Given the description of an element on the screen output the (x, y) to click on. 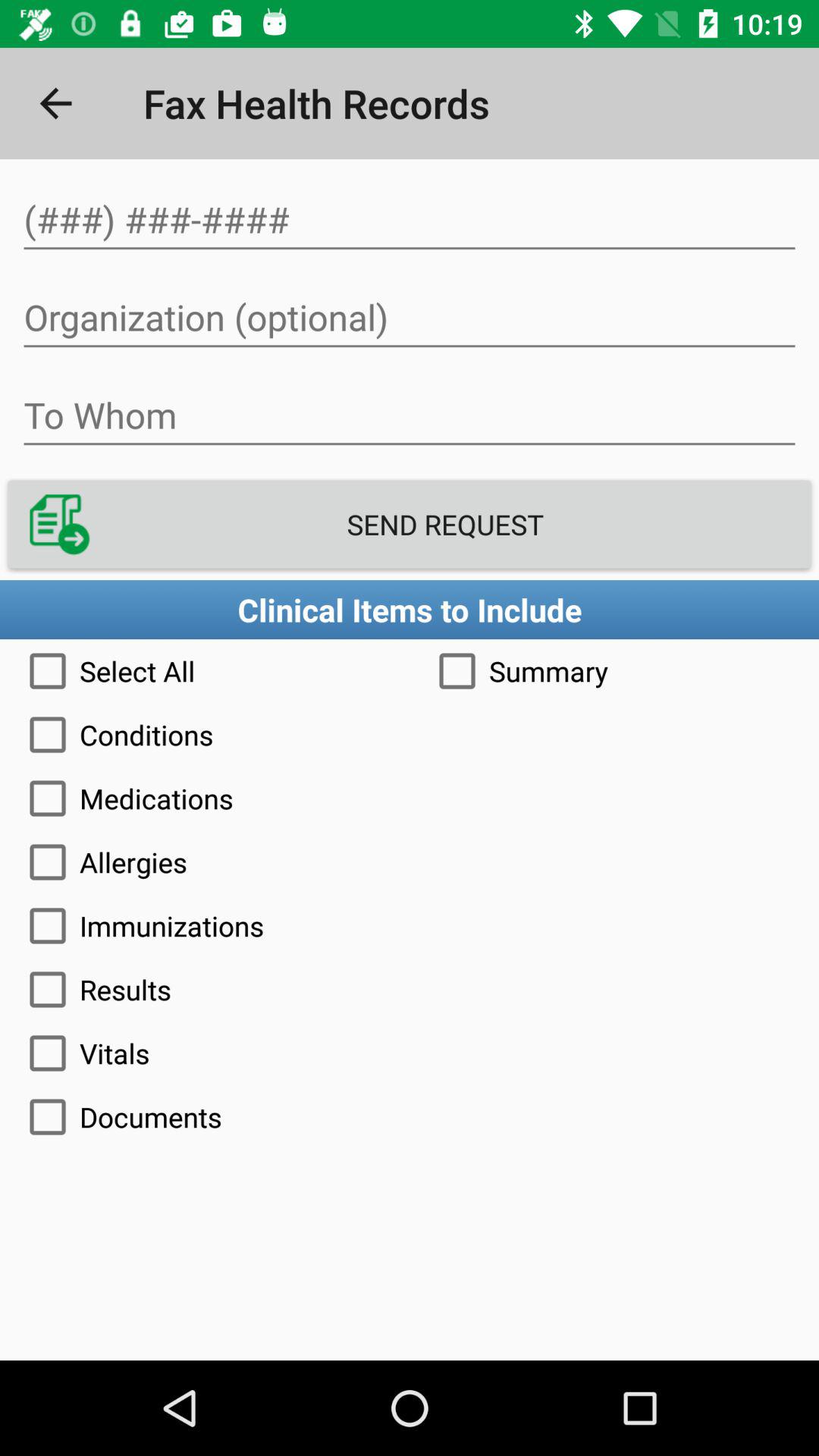
textbox to enter (409, 415)
